Given the description of an element on the screen output the (x, y) to click on. 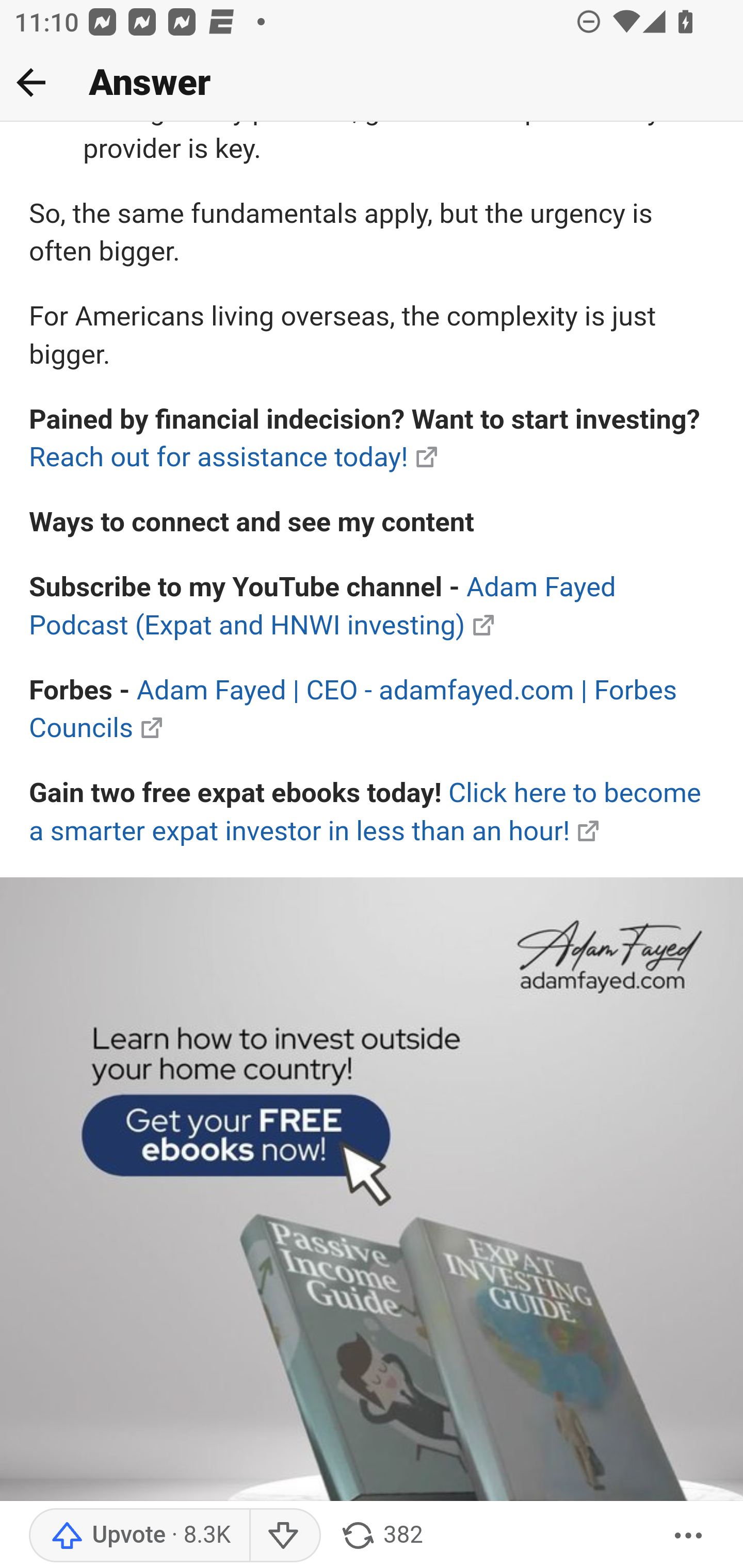
Back (30, 82)
Reach out for assistance today! (218, 457)
Adam Fayed Podcast (Expat and HNWI investing) (322, 606)
Adam Fayed | CEO - adamfayed.com | Forbes Councils (353, 710)
main-qimg-bdbb35c898c3a494acedc62bfb194e29-lq (371, 1223)
Upvote (138, 1535)
Downvote (283, 1535)
382 shares (380, 1535)
More (688, 1535)
